Given the description of an element on the screen output the (x, y) to click on. 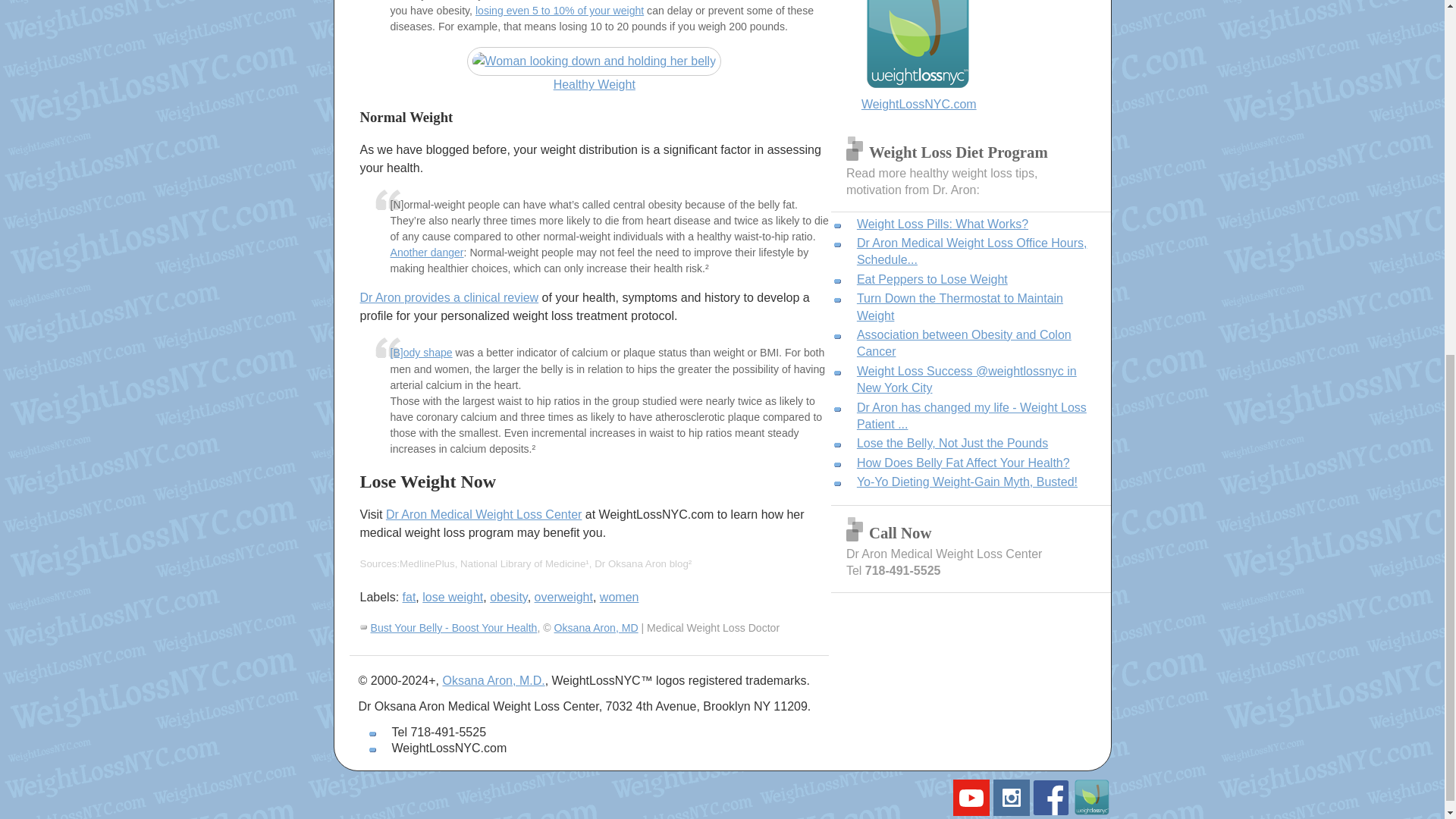
Dr Aron Medical Weight Loss Office Hours, Schedule... (972, 251)
WeightLossNYC.com (970, 56)
Dr Aron has changed my life - Weight Loss Patient ... (971, 414)
women (619, 596)
lose weight (452, 596)
Eat Peppers to Lose Weight (932, 278)
How Does Belly Fat Affect Your Health? (963, 462)
fat (409, 596)
overweight (563, 596)
obesity (508, 596)
Another danger (426, 252)
patient testimonial videos (971, 811)
Weight Loss Pills: What Works? (942, 223)
Dr Oksana Aron Medical Weight Loss Center, Brooklyn NYC (970, 56)
Yo-Yo Dieting Weight-Gain Myth, Busted! (967, 481)
